Given the description of an element on the screen output the (x, y) to click on. 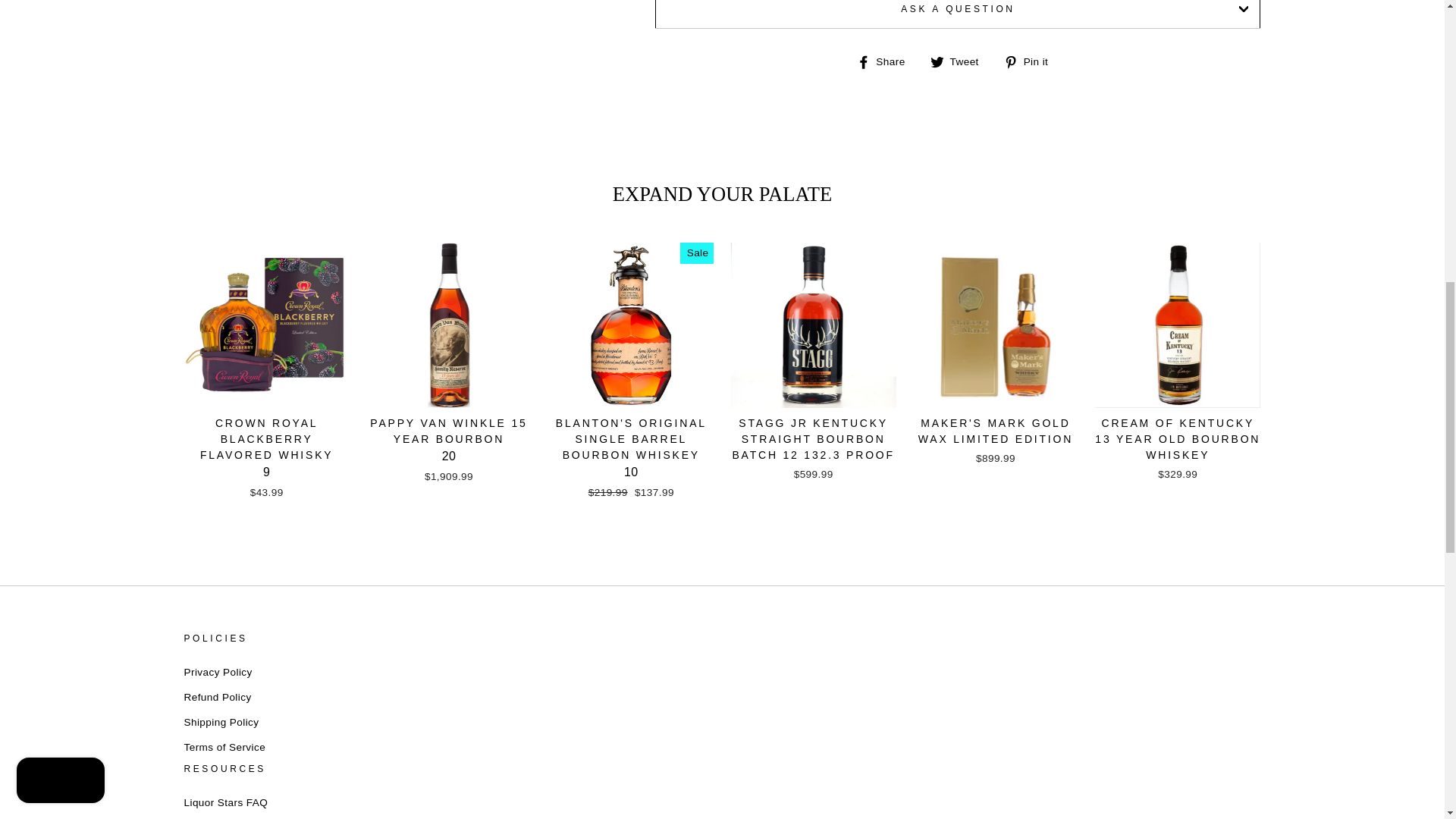
Share on Facebook (887, 61)
Tweet on Twitter (960, 61)
Pin on Pinterest (1031, 61)
